Given the description of an element on the screen output the (x, y) to click on. 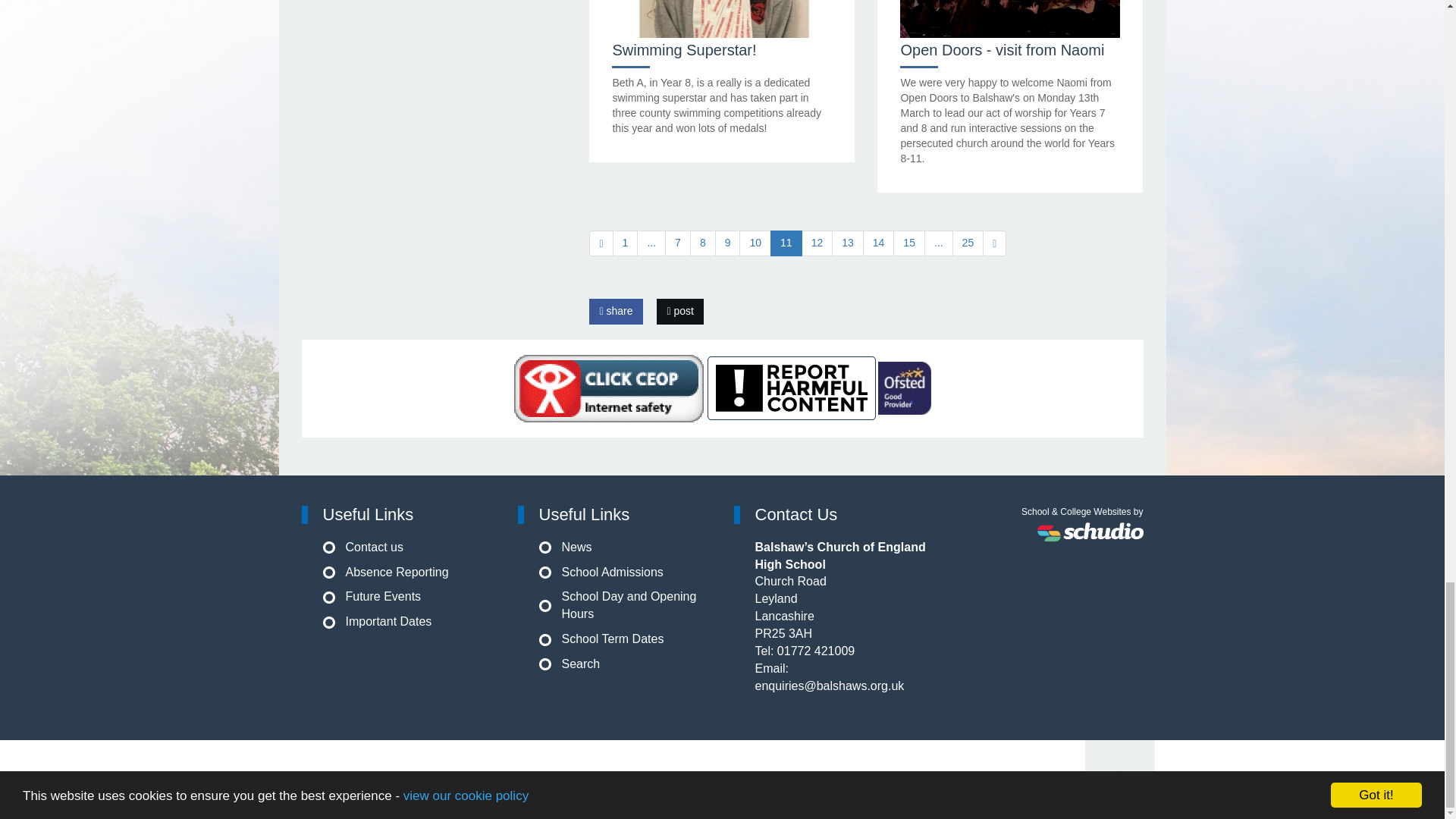
Post on X (679, 311)
Share on Facebook (615, 311)
